Given the description of an element on the screen output the (x, y) to click on. 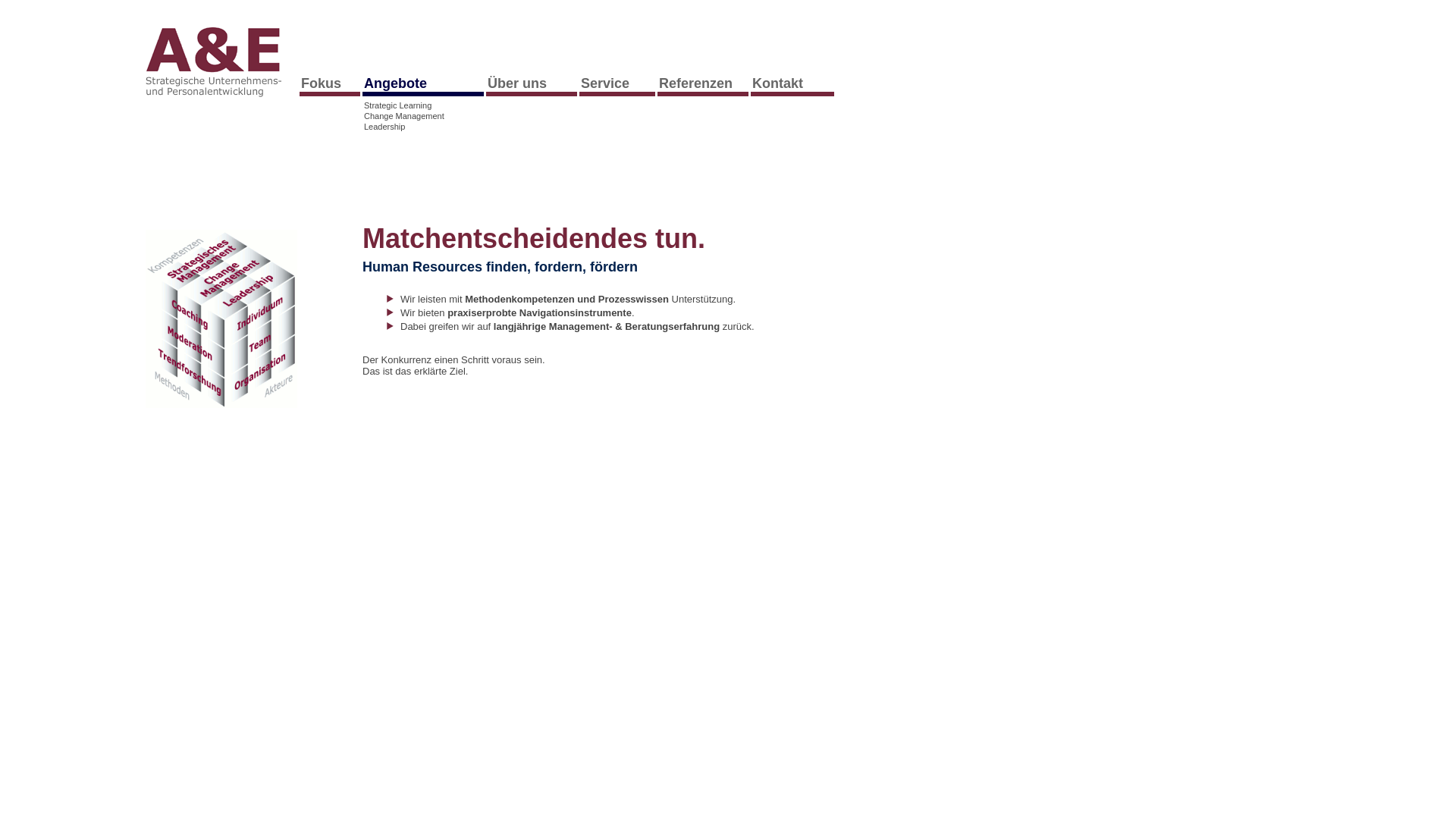
Fokus Element type: text (329, 83)
Leadership Element type: text (422, 127)
zur Homepage von A&E AG Element type: hover (221, 99)
Service Element type: text (617, 83)
Referenzen Element type: text (702, 83)
Strategic Learning Element type: text (422, 105)
Change Management Element type: text (422, 116)
Kontakt Element type: text (792, 83)
